Given the description of an element on the screen output the (x, y) to click on. 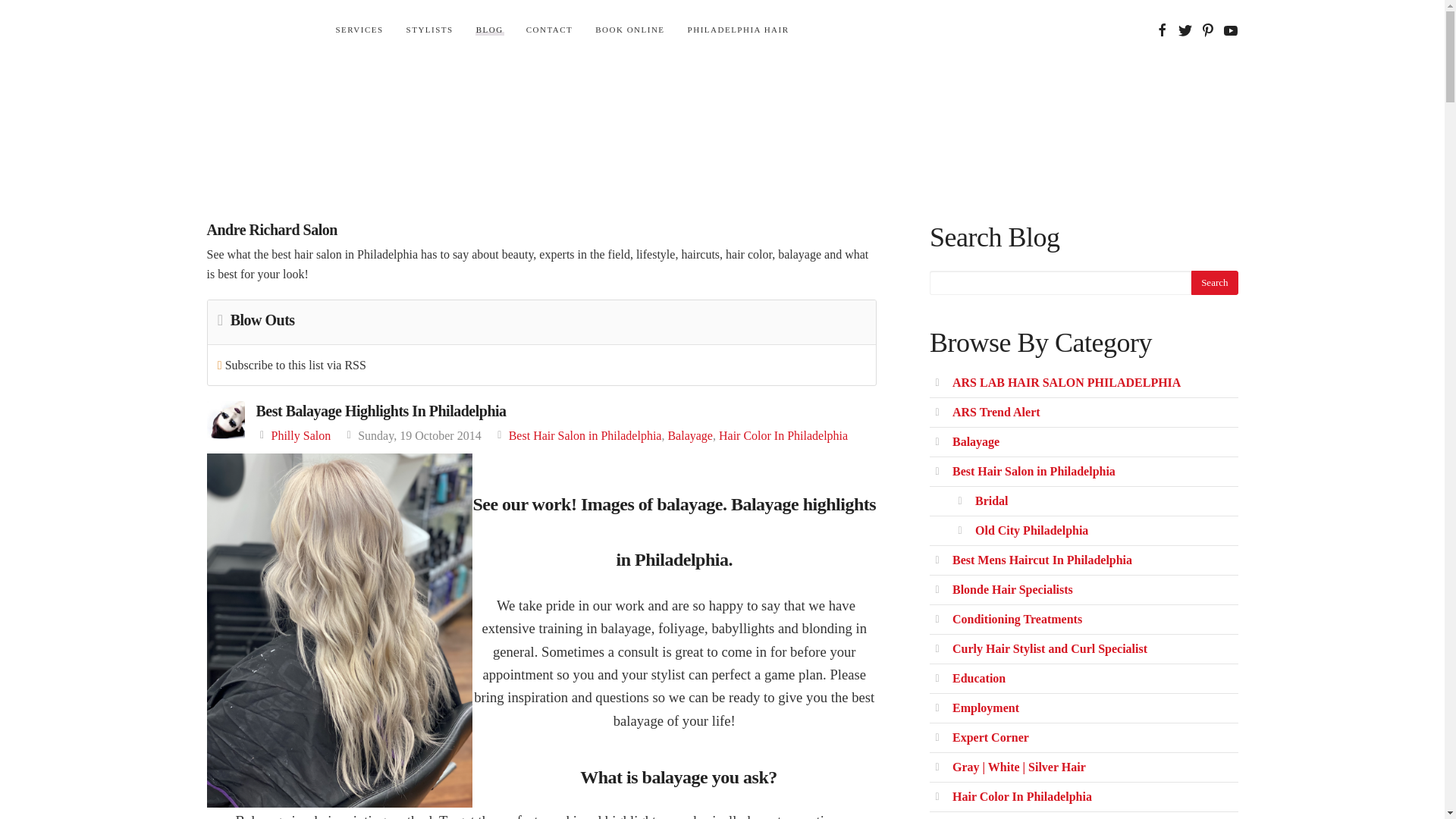
BOOK ONLINE (629, 30)
SERVICES (359, 30)
Subscribe to this list via RSS (295, 364)
PHILADELPHIA HAIR (738, 30)
Subscribe to this list via RSS (295, 364)
CONTACT (550, 30)
STYLISTS (429, 30)
Blow Outs (259, 324)
